Given the description of an element on the screen output the (x, y) to click on. 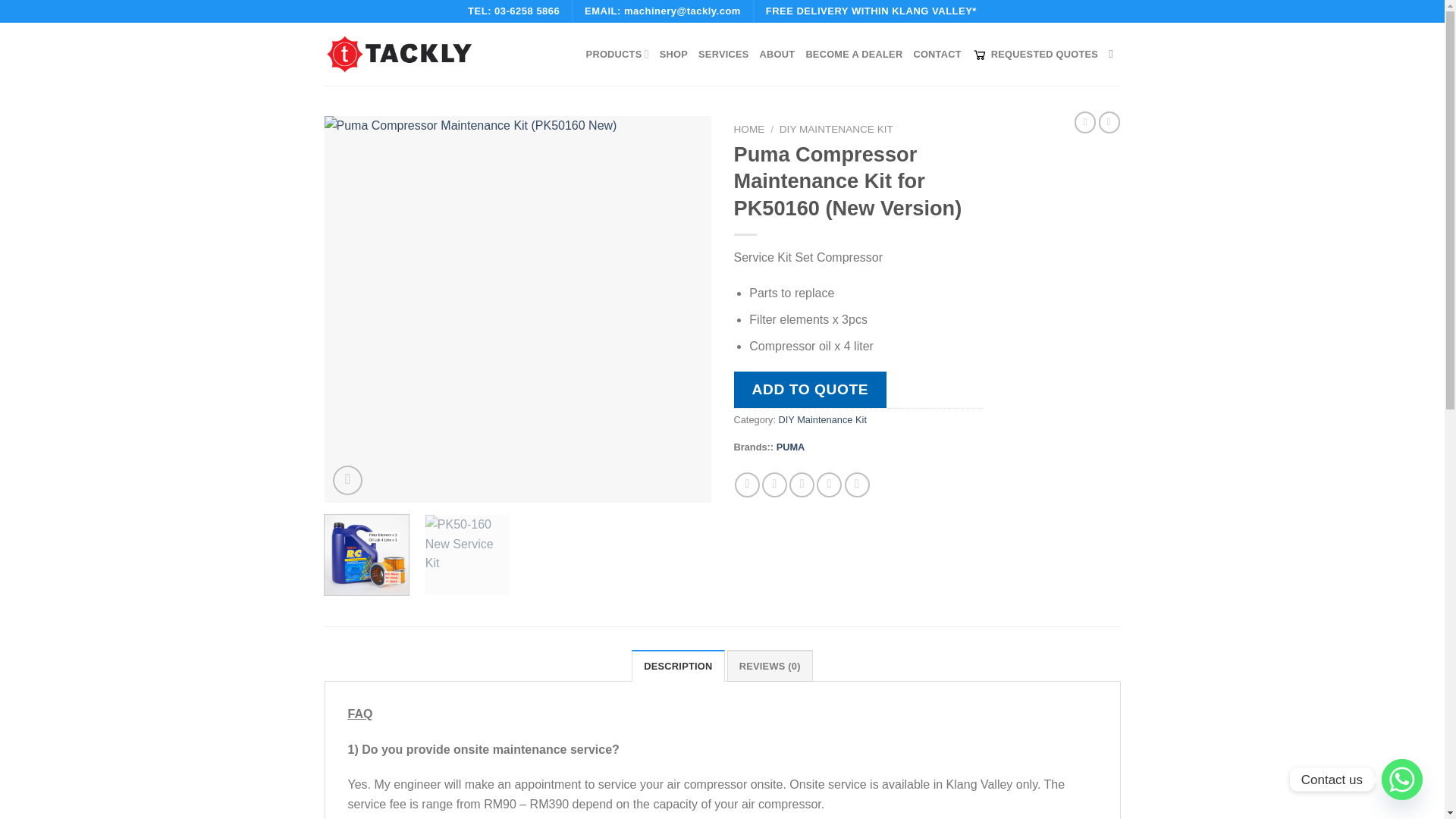
Email to a Friend (801, 484)
ADD TO QUOTE (809, 389)
ABOUT (777, 53)
PRODUCTS (617, 53)
BECOME A DEALER (853, 53)
HOME (749, 129)
REQUESTED QUOTES (1034, 54)
DIY Maintenance Kit (822, 419)
DIY MAINTENANCE KIT (835, 129)
PUMA (790, 446)
Zoom (347, 480)
Share on Facebook (747, 484)
Pin on Pinterest (828, 484)
SERVICES (723, 53)
Share on Twitter (774, 484)
